Given the description of an element on the screen output the (x, y) to click on. 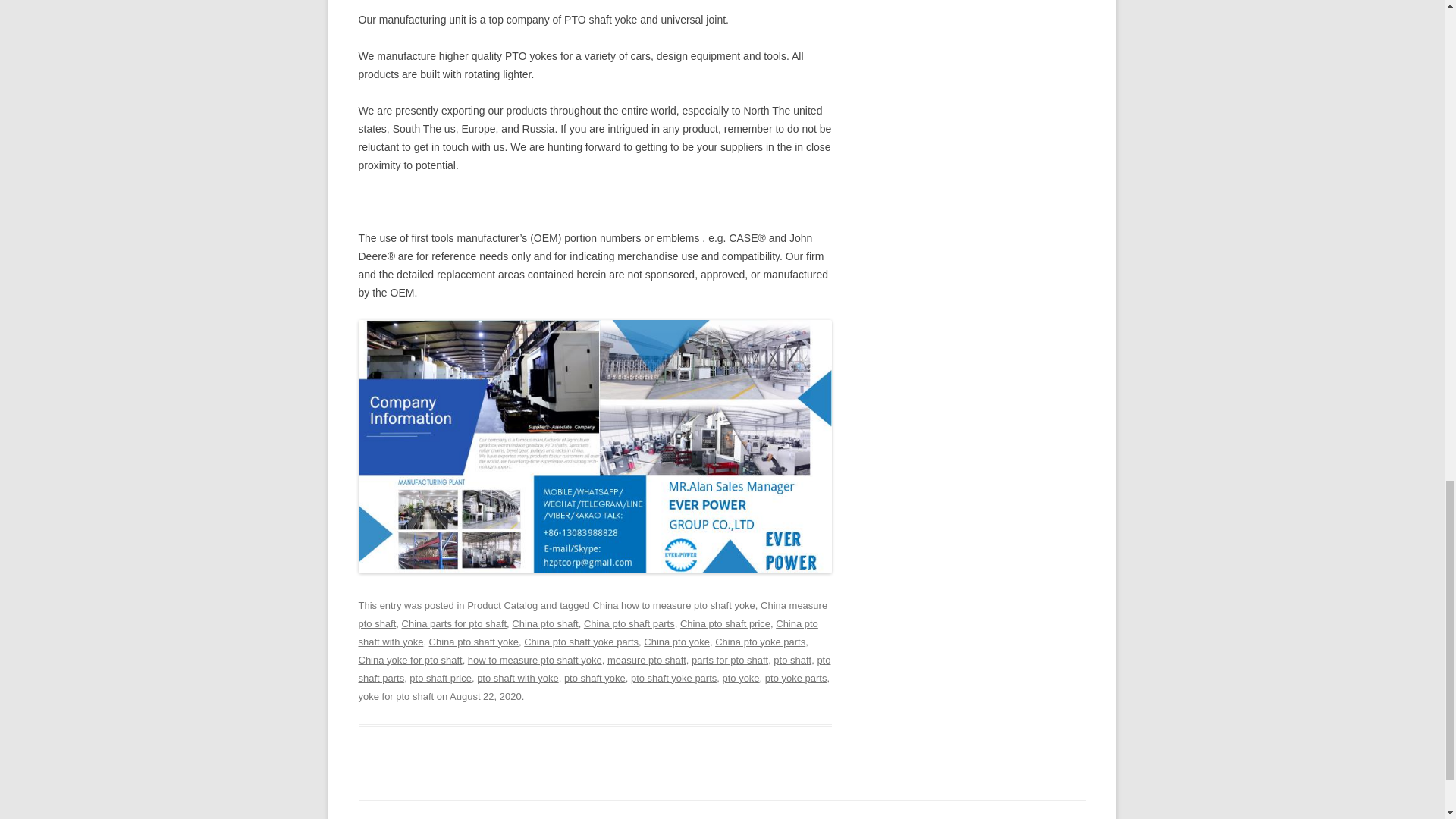
pto shaft yoke parts (673, 677)
China pto shaft with yoke (587, 632)
yoke for pto shaft (395, 696)
China pto yoke parts (759, 641)
measure pto shaft (646, 659)
pto shaft with yoke (518, 677)
pto shaft (791, 659)
China parts for pto shaft (453, 623)
pto yoke parts (796, 677)
Product Catalog (502, 604)
pto shaft price (440, 677)
parts for pto shaft (729, 659)
China pto shaft yoke parts (581, 641)
how to measure pto shaft yoke (534, 659)
China yoke for pto shaft (409, 659)
